Given the description of an element on the screen output the (x, y) to click on. 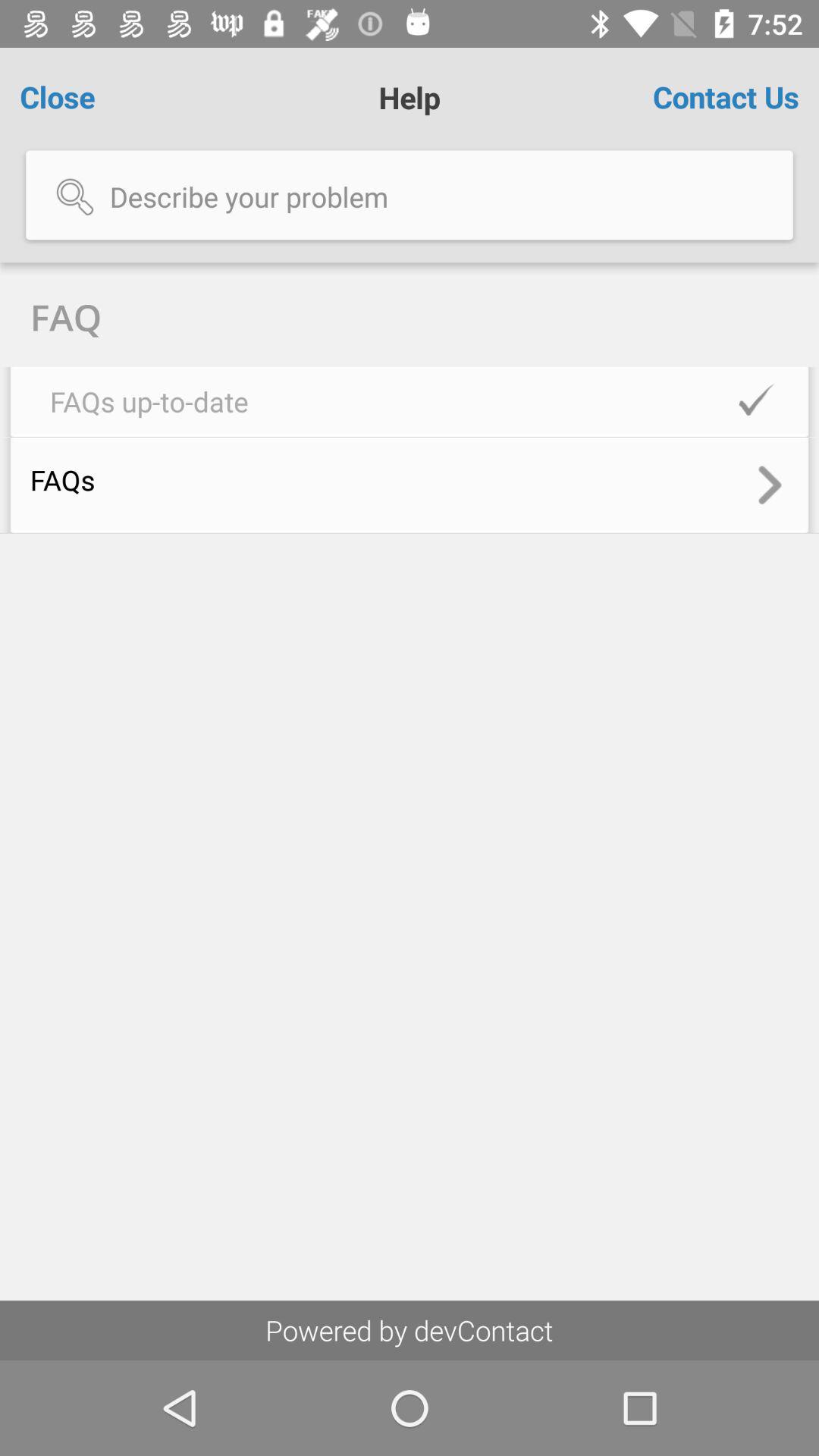
click the button on the top right corner of the web page (725, 96)
click on the button which is on the left of help (83, 96)
